Given the description of an element on the screen output the (x, y) to click on. 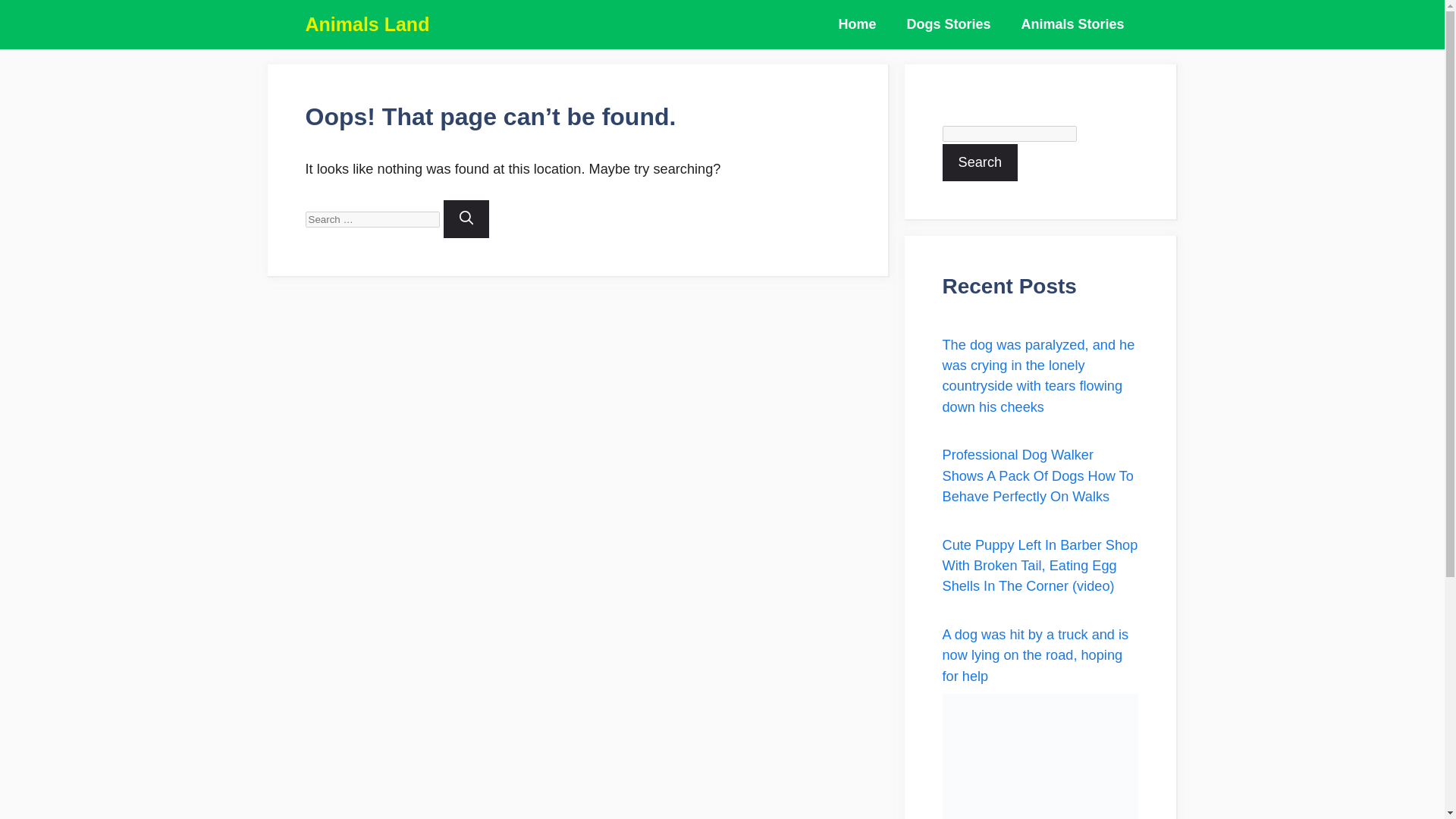
Animals Land (366, 24)
Animals Stories (1072, 24)
Home (856, 24)
Dogs Stories (948, 24)
Search for: (371, 219)
Search (979, 162)
